Given the description of an element on the screen output the (x, y) to click on. 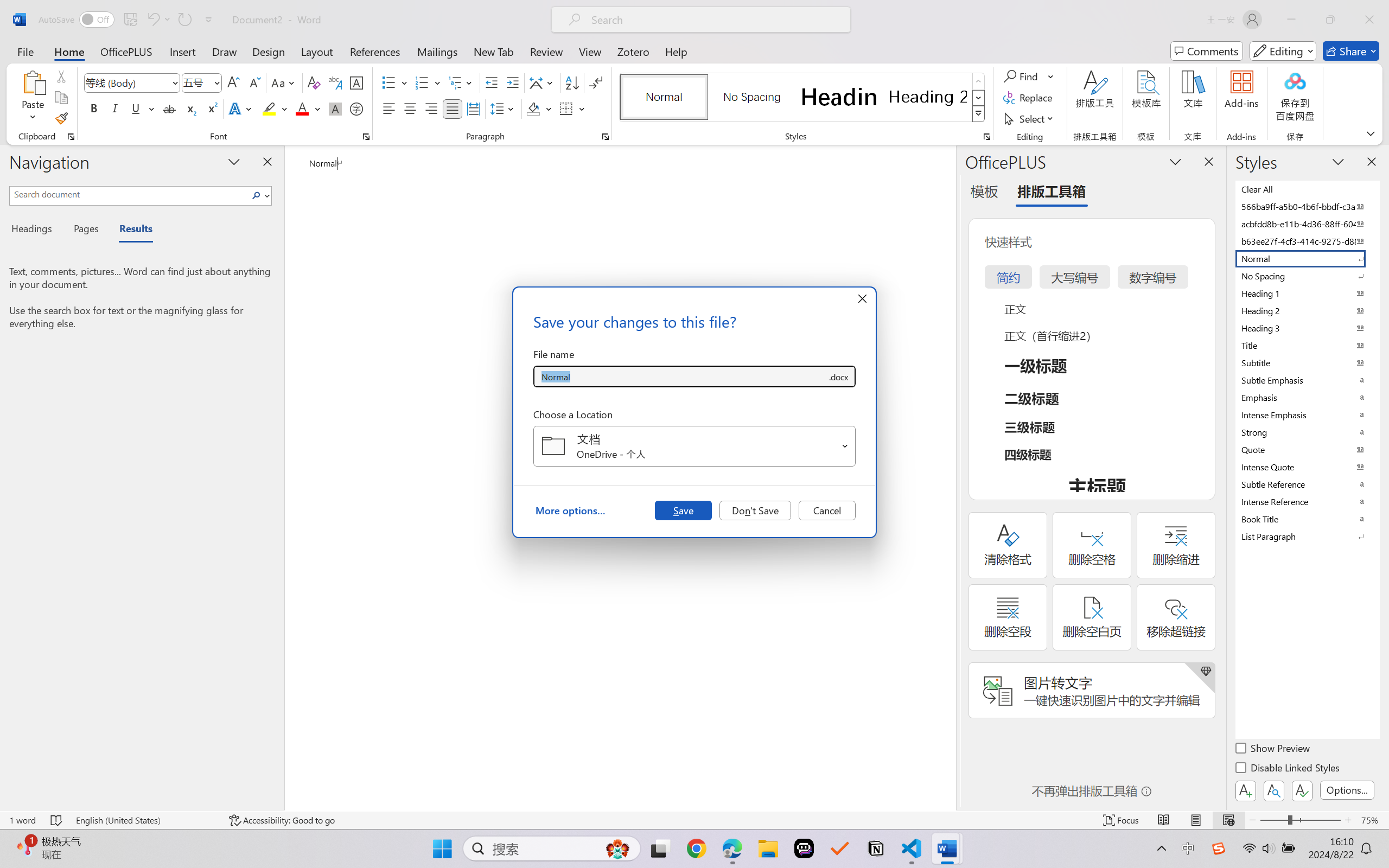
Quick Access Toolbar (127, 19)
Ribbon Display Options (1370, 132)
Accessibility Checker Accessibility: Good to go (282, 819)
Home (69, 51)
Choose a Location (694, 446)
Normal (1306, 258)
Row Down (978, 97)
Intense Reference (1306, 501)
Phonetic Guide... (334, 82)
Sort... (571, 82)
